Given the description of an element on the screen output the (x, y) to click on. 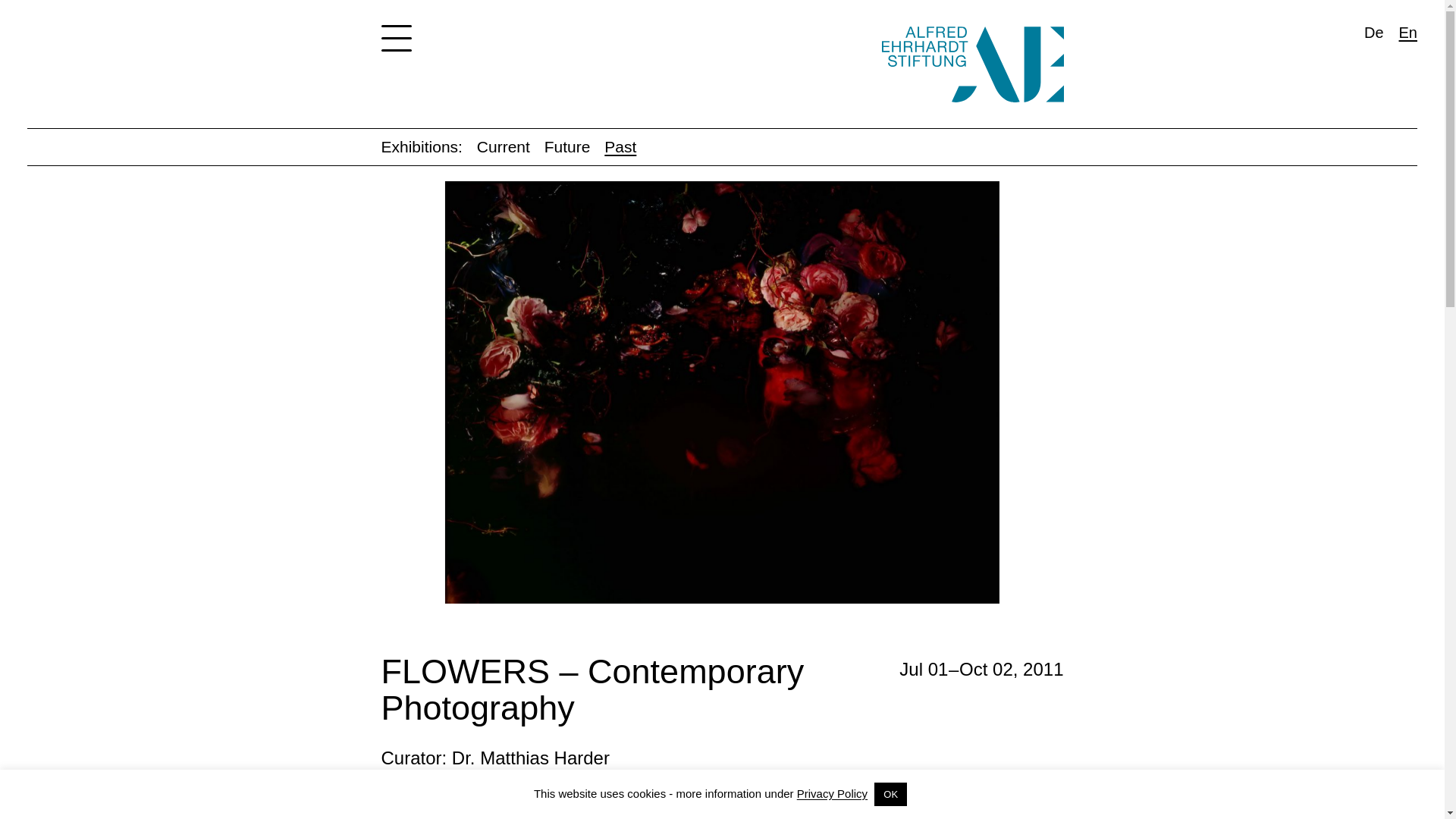
De (1366, 31)
